Given the description of an element on the screen output the (x, y) to click on. 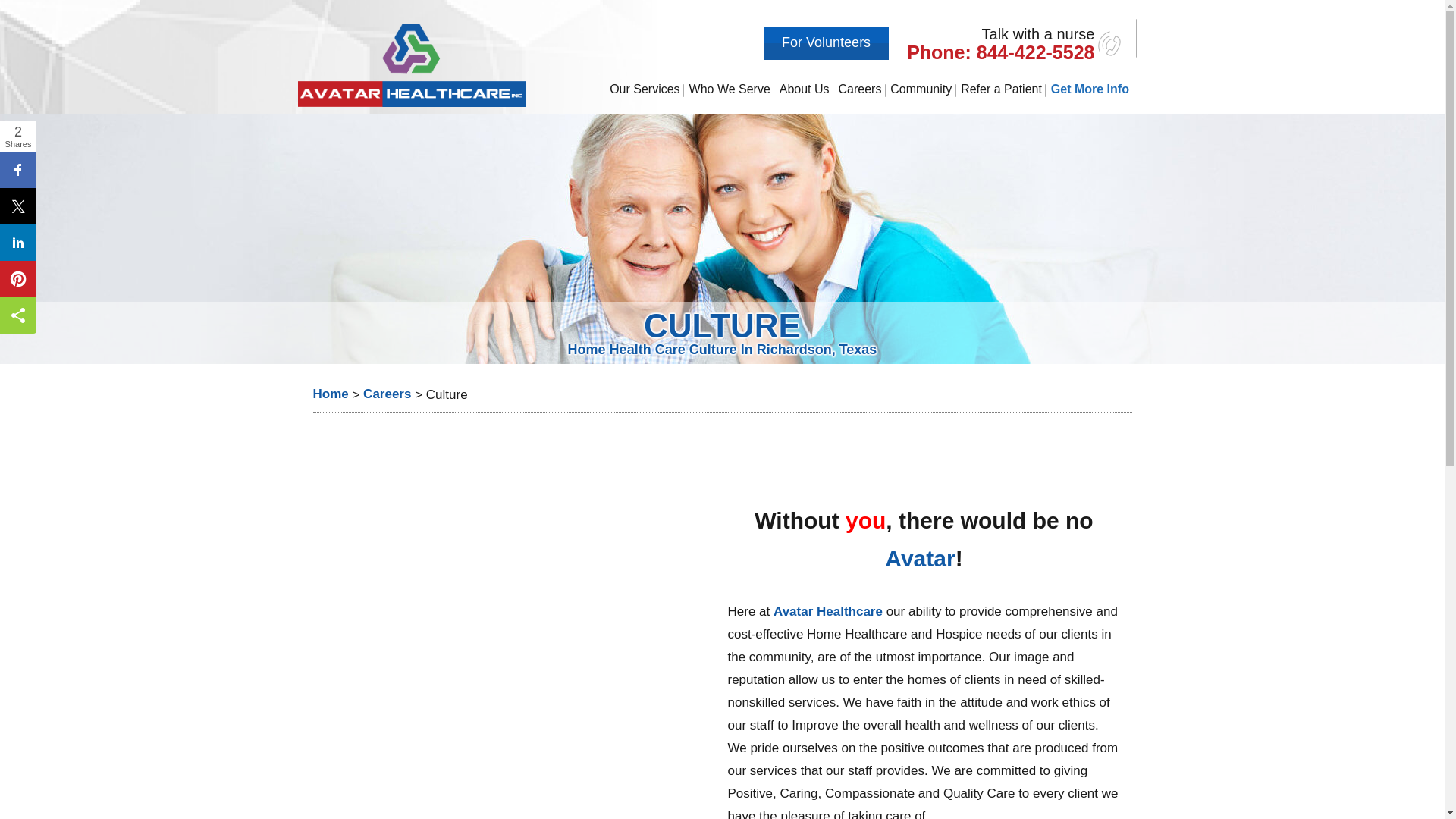
844-422-5528 (1035, 52)
Careers (859, 89)
Go to Home. (330, 394)
Go to Careers. (386, 394)
About Us (803, 89)
Who We Serve (729, 89)
Our Services (644, 89)
For Volunteers (825, 42)
